Given the description of an element on the screen output the (x, y) to click on. 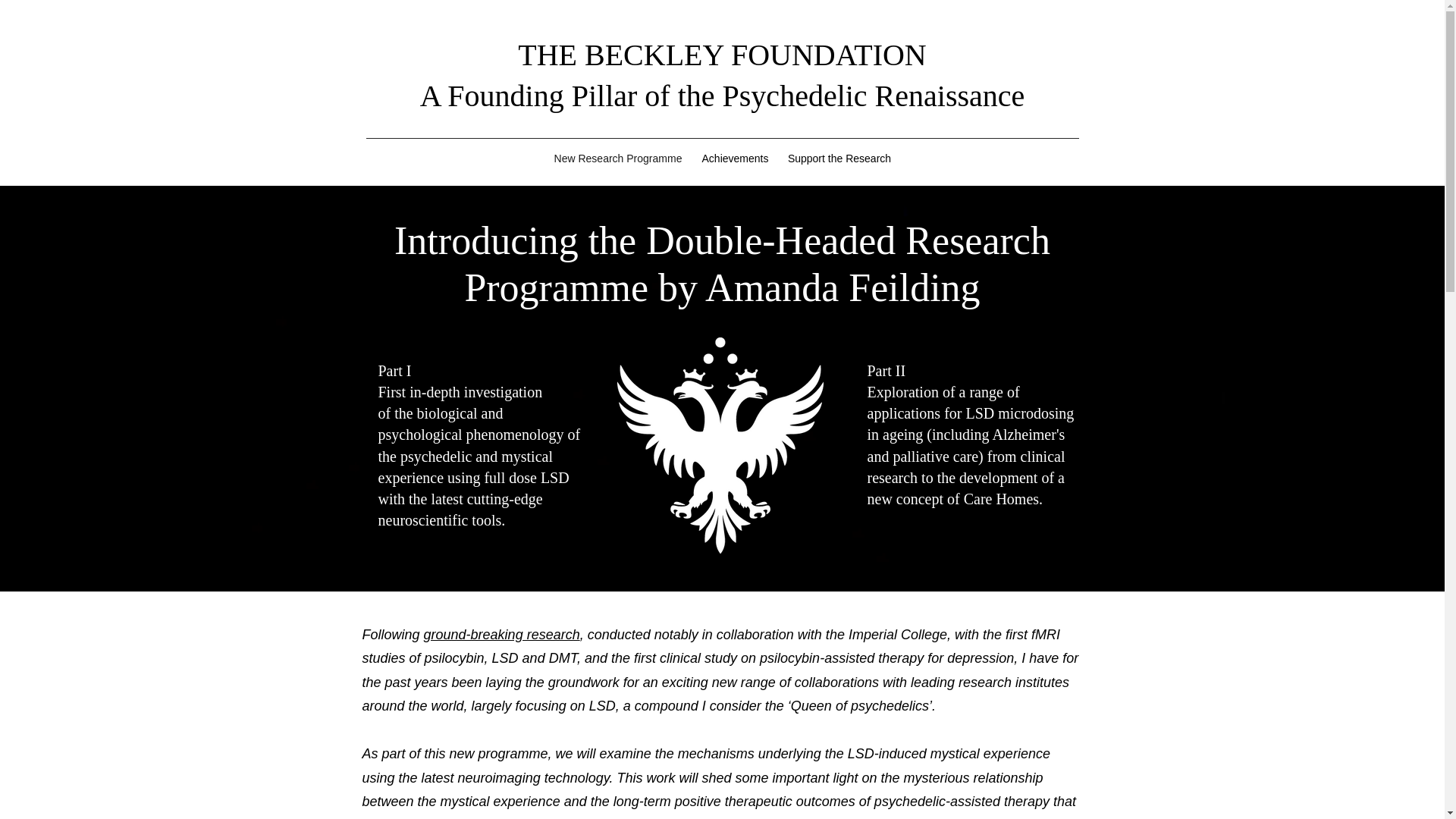
Achievements (735, 158)
ground-breaking research (501, 634)
THE BECKLEY FOUNDATION (722, 54)
Support the Research (839, 158)
New Research Programme (618, 158)
